Given the description of an element on the screen output the (x, y) to click on. 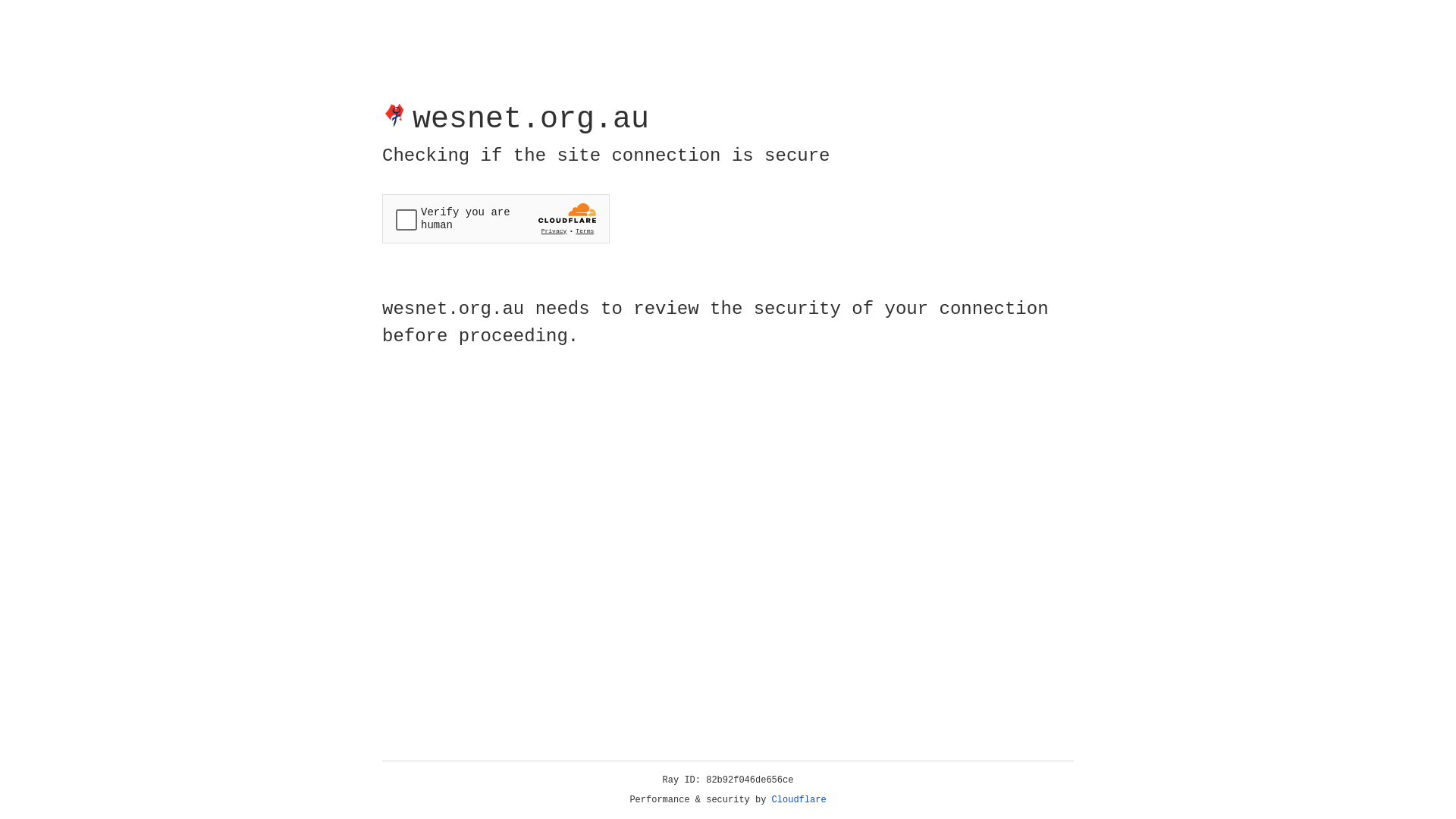
Cloudflare Element type: text (798, 799)
Widget containing a Cloudflare security challenge Element type: hover (495, 218)
